Given the description of an element on the screen output the (x, y) to click on. 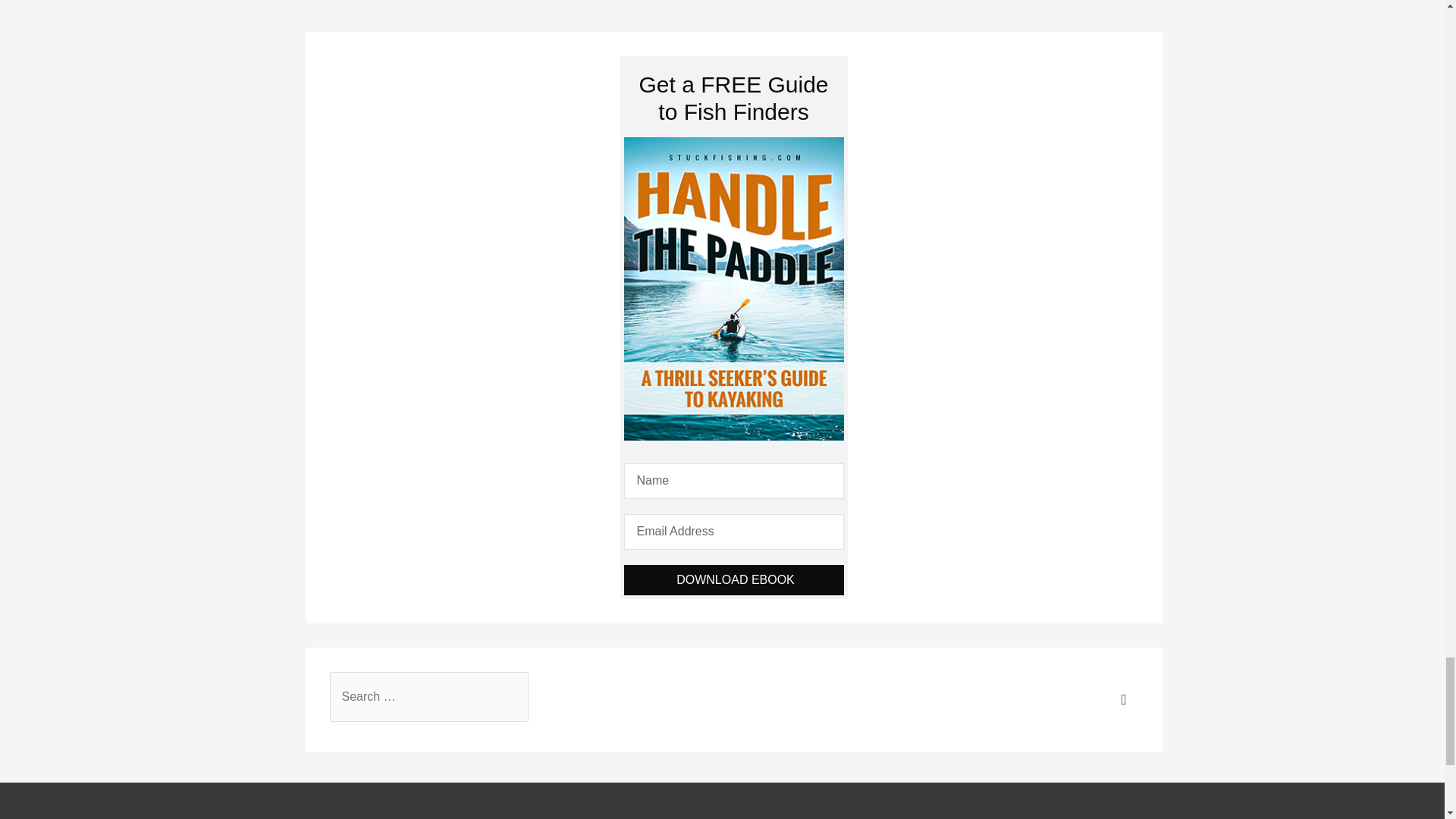
DOWNLOAD EBOOK (733, 580)
